Given the description of an element on the screen output the (x, y) to click on. 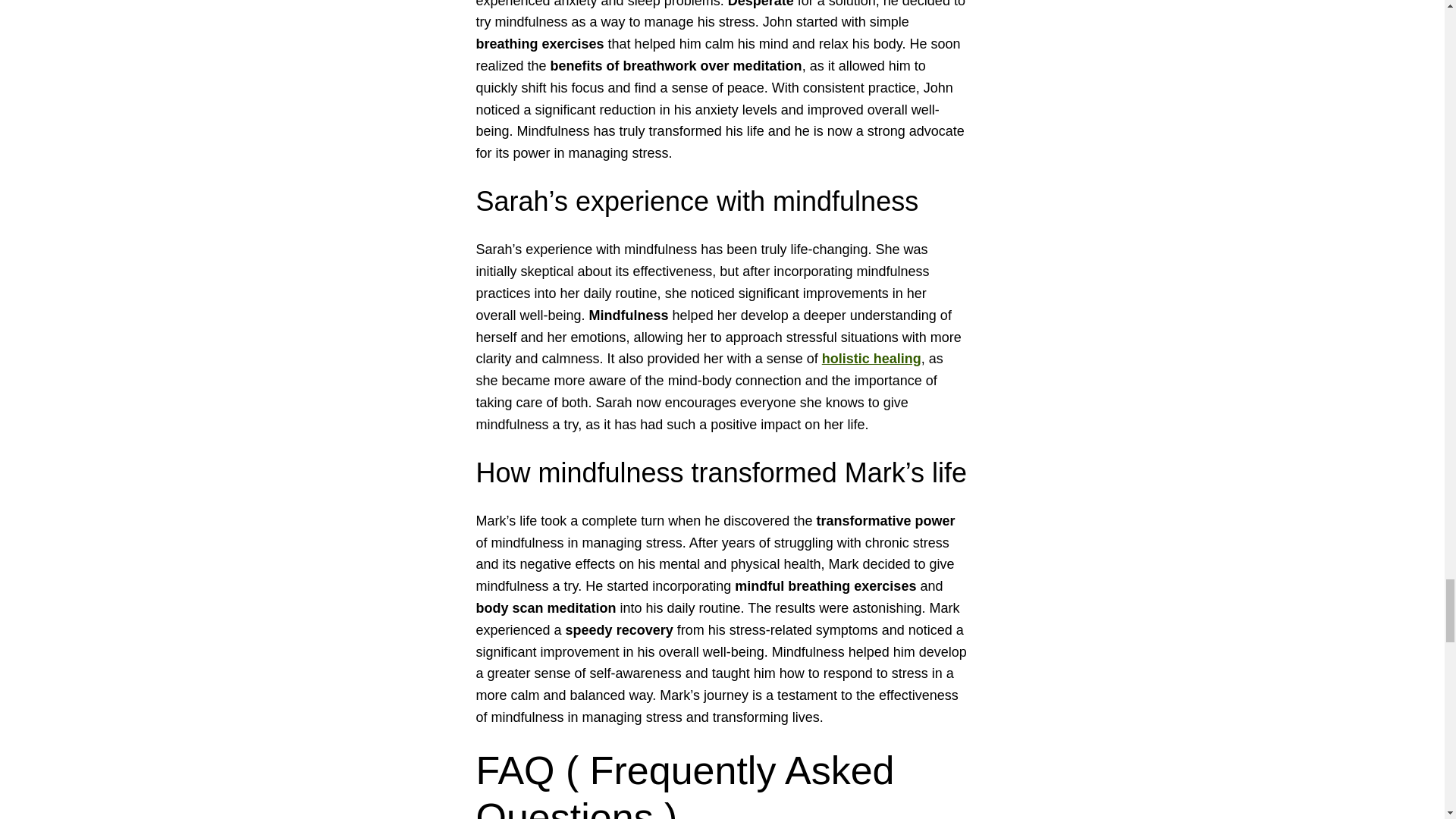
holistic healing (871, 358)
